Given the description of an element on the screen output the (x, y) to click on. 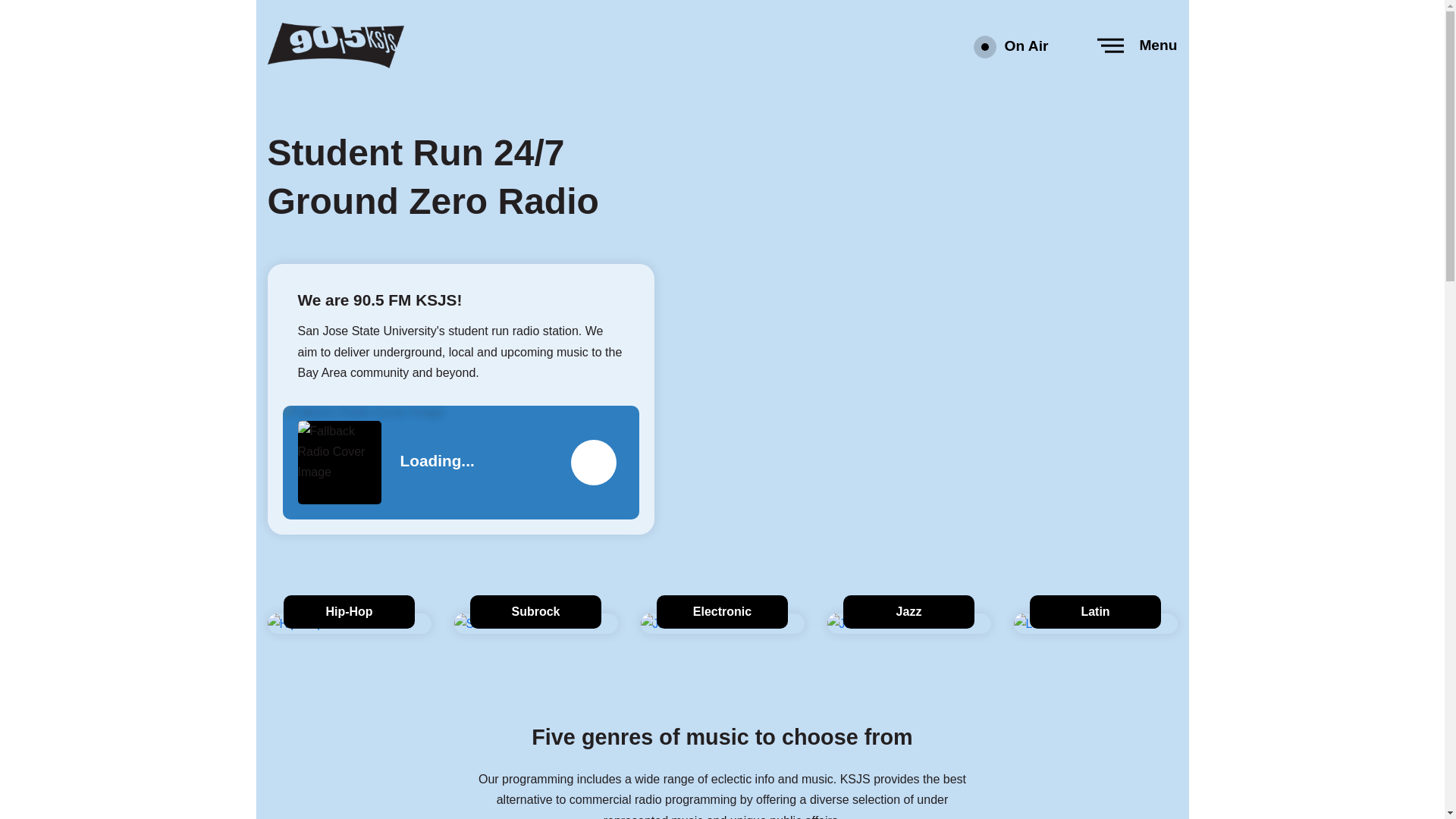
Menu (1138, 45)
Latin (1094, 614)
On Air (1014, 46)
Jazz (908, 614)
Hip-Hop (348, 614)
Electronic (721, 614)
Subrock (534, 614)
